Given the description of an element on the screen output the (x, y) to click on. 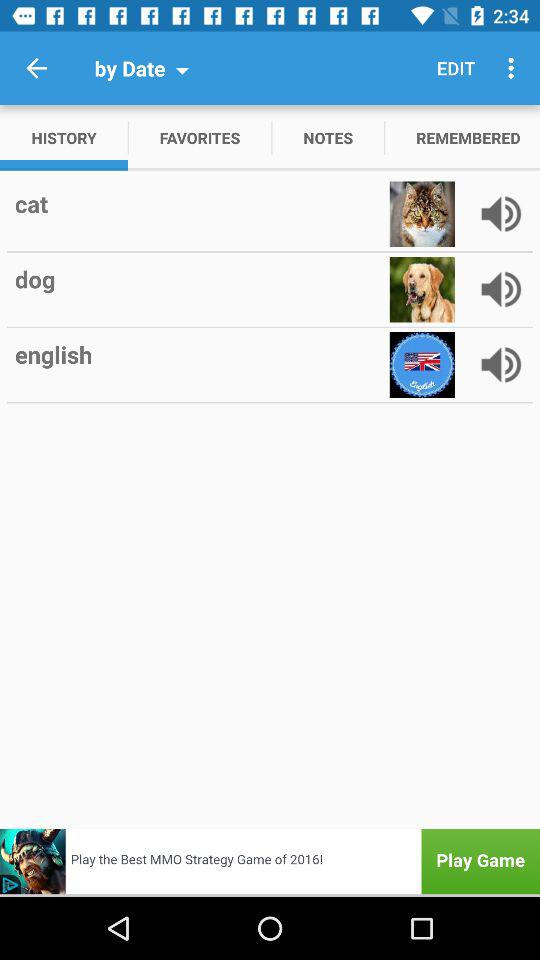
speaker (501, 213)
